Given the description of an element on the screen output the (x, y) to click on. 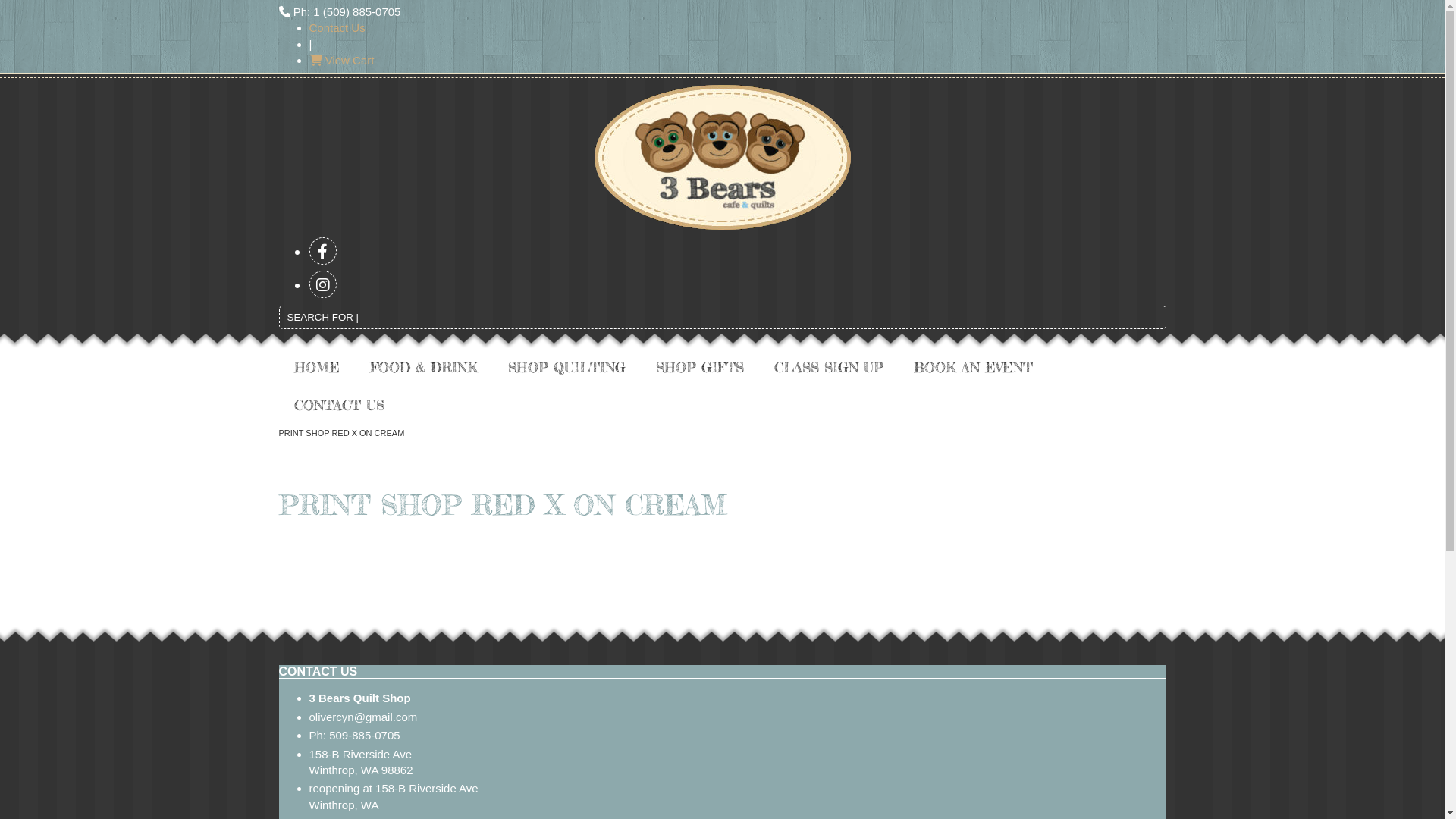
FOOD & DRINK Element type: text (423, 366)
Search Element type: text (1153, 320)
SHOP QUILTING Element type: text (566, 366)
CLASS SIGN UP Element type: text (827, 366)
Contact Us Element type: text (337, 27)
View Cart Element type: text (341, 59)
CONTACT US Element type: text (339, 404)
SHOP GIFTS Element type: text (699, 366)
HOME Element type: text (316, 366)
  Element type: text (322, 250)
  Element type: text (322, 284)
BOOK AN EVENT Element type: text (972, 366)
